Given the description of an element on the screen output the (x, y) to click on. 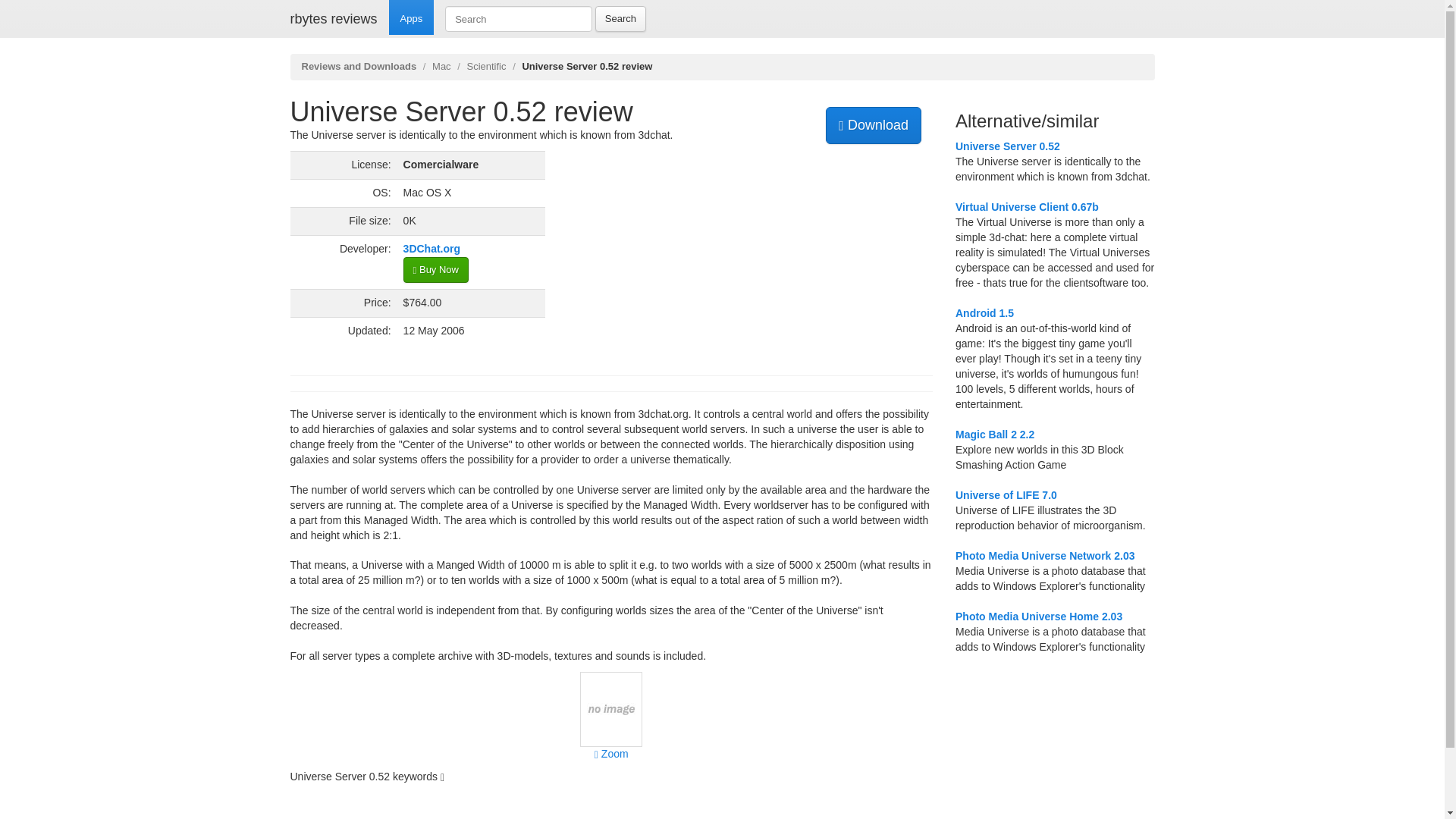
rbytes reviews (333, 18)
Reviews and Downloads (358, 66)
Android 1.5 (984, 313)
Zoom (610, 731)
3DChat.org (431, 248)
rbytes reviews (333, 18)
Photo Media Universe Network 2.03 (1045, 555)
Download (873, 125)
Buy Now (435, 269)
Universe of LIFE 7.0 (1006, 494)
Photo Media Universe Network 2.03 review (1045, 555)
Universe of LIFE 7.0 review (1006, 494)
Magic Ball 2 2.2 (994, 434)
Mac (441, 66)
